Given the description of an element on the screen output the (x, y) to click on. 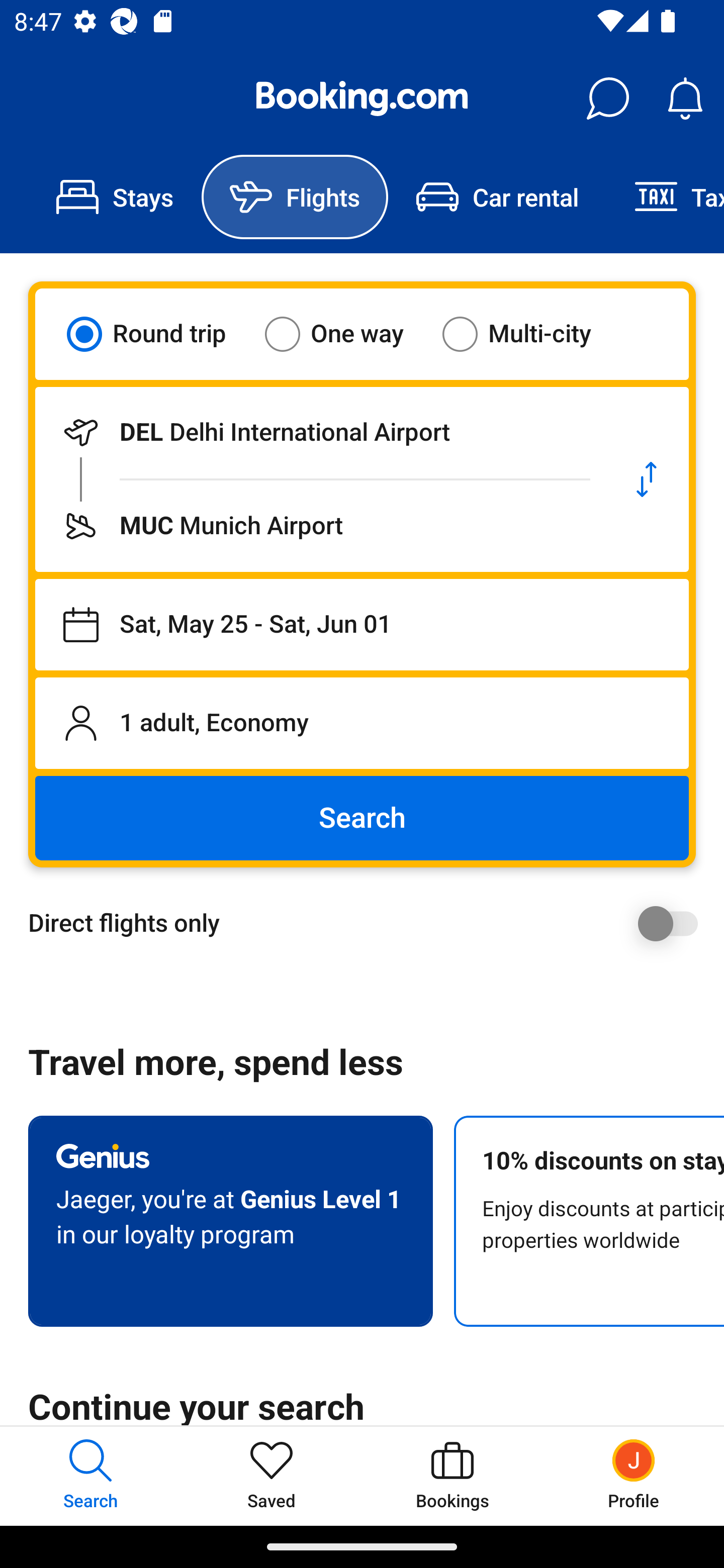
Messages (607, 98)
Notifications (685, 98)
Stays (114, 197)
Flights (294, 197)
Car rental (497, 197)
Taxi (665, 197)
One way (346, 333)
Multi-city (528, 333)
Departing from DEL Delhi International Airport (319, 432)
Swap departure location and destination (646, 479)
Flying to MUC Munich Airport (319, 525)
Departing on Sat, May 25, returning on Sat, Jun 01 (361, 624)
1 adult, Economy (361, 722)
Search (361, 818)
Direct flights only (369, 923)
Saved (271, 1475)
Bookings (452, 1475)
Profile (633, 1475)
